Given the description of an element on the screen output the (x, y) to click on. 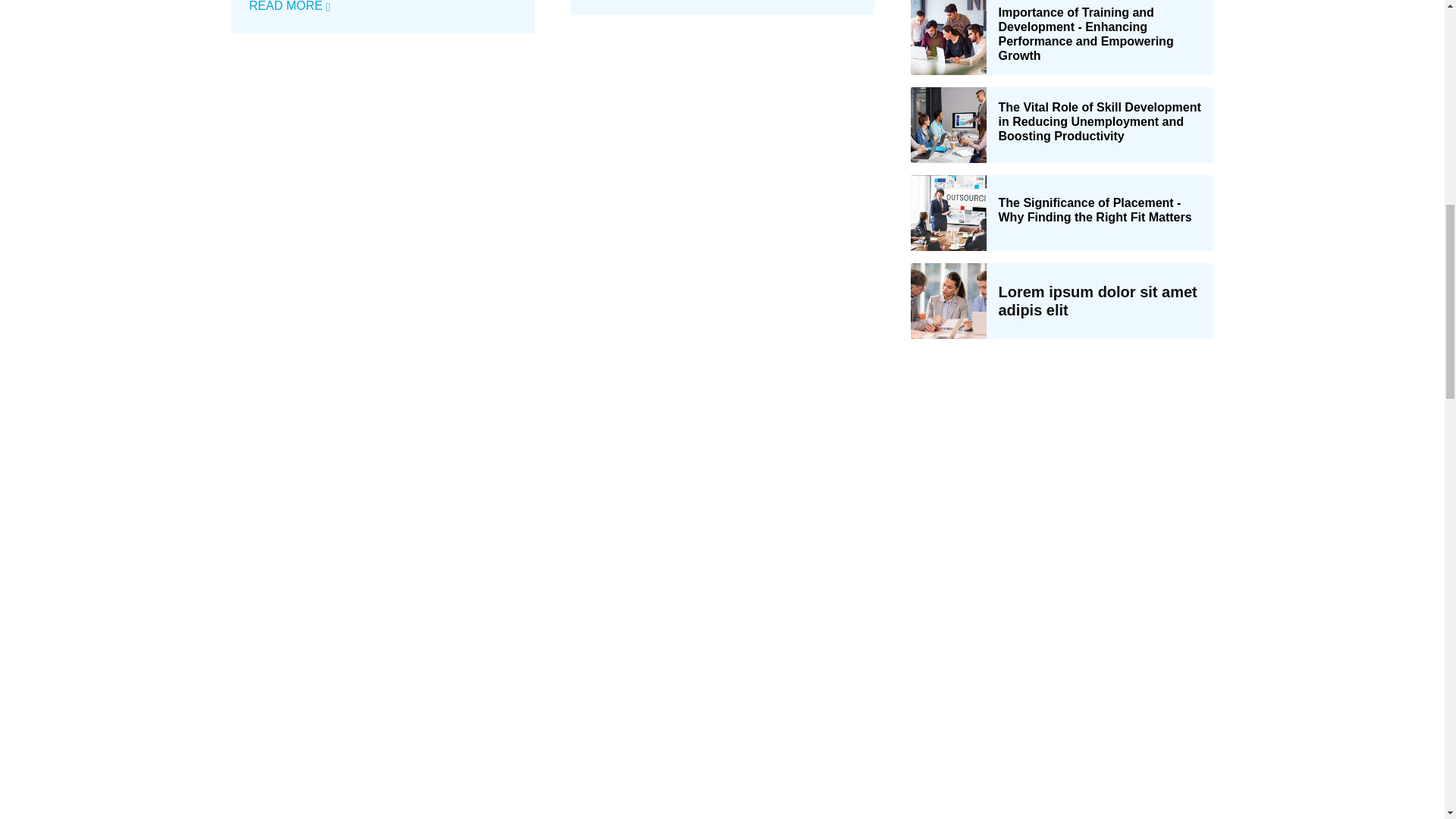
READ MORE (289, 6)
